Given the description of an element on the screen output the (x, y) to click on. 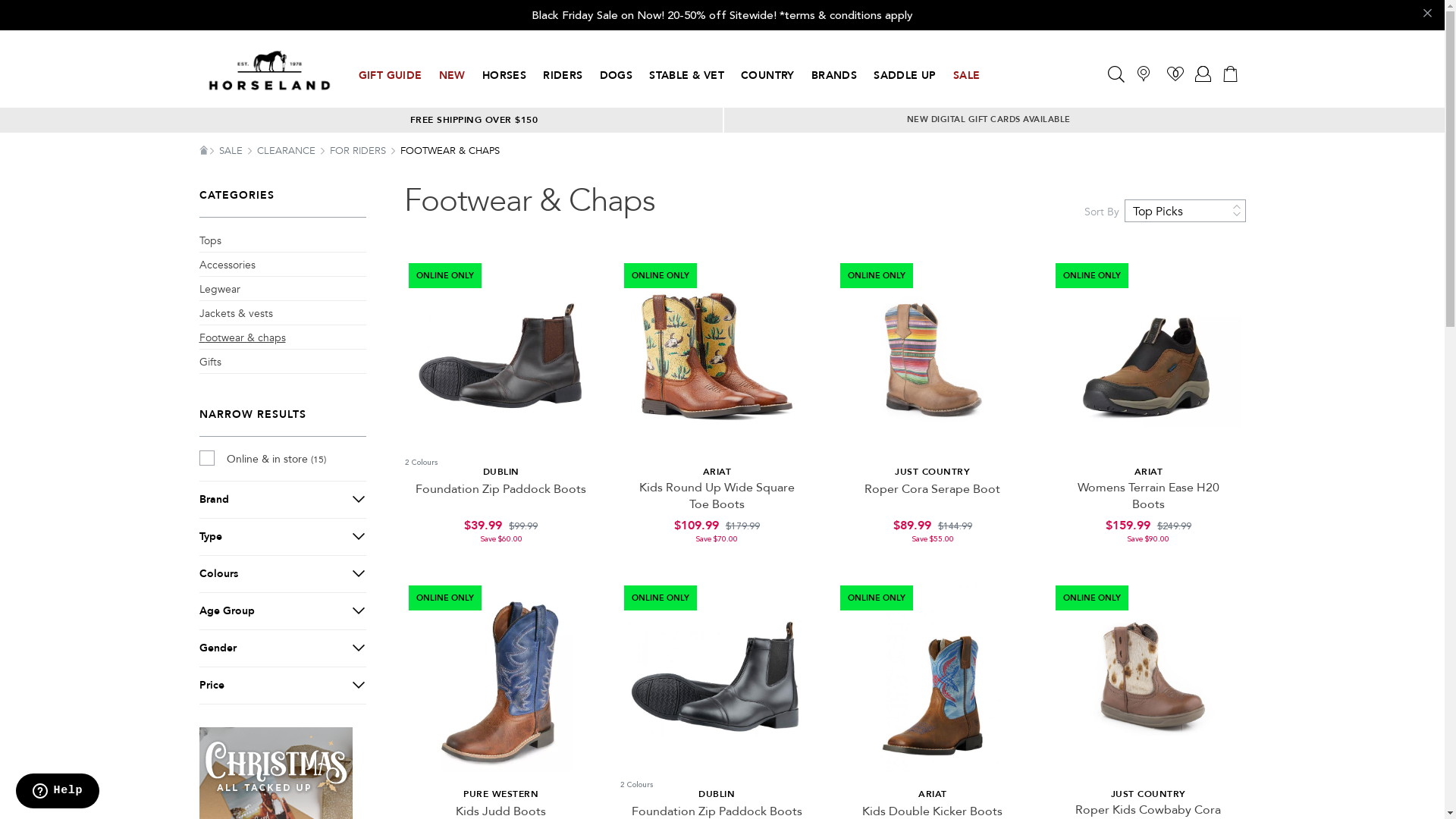
My Wish List
0 Element type: text (1175, 73)
CLEARANCE Element type: text (286, 150)
Legwear Element type: text (218, 289)
ONLINE ONLY Element type: text (501, 359)
SADDLE UP Element type: text (904, 75)
Roper Cora Serape Boot Element type: text (932, 488)
Accessories Element type: text (226, 265)
ONLINE ONLY Element type: text (932, 359)
Horseland logo Element type: hover (268, 70)
FOR RIDERS Element type: text (358, 150)
DOGS Element type: text (616, 75)
$159.99 $249.99
Save $90.00 Element type: text (1148, 529)
STABLE & VET Element type: text (686, 75)
Store Locator Element type: text (1143, 72)
Online & in store 15 Element type: text (281, 459)
ONLINE ONLY Element type: text (716, 359)
BRANDS Element type: text (833, 75)
Kids Round Up Wide Square Toe Boots Element type: text (716, 495)
SALE Element type: text (231, 150)
Footwear & chaps Element type: text (241, 338)
NEW DIGITAL GIFT CARDS AVAILABLE  Element type: text (989, 119)
NEW Element type: text (451, 75)
HORSES Element type: text (504, 75)
$89.99 $144.99
Save $55.00 Element type: text (932, 529)
COUNTRY Element type: text (767, 75)
Jackets & vests Element type: text (235, 313)
RIDERS Element type: text (562, 75)
ONLINE ONLY Element type: text (716, 681)
Tops Element type: text (209, 241)
$39.99 $99.99
Save $60.00 Element type: text (501, 529)
GIFT GUIDE Element type: text (389, 75)
Opens a widget where you can find more information Element type: hover (57, 792)
$20 - $40 Element type: text (281, 710)
Gifts Element type: text (209, 362)
ONLINE ONLY Element type: text (501, 681)
$109.99 $179.99
Save $70.00 Element type: text (716, 529)
SALE Element type: text (966, 75)
ONLINE ONLY Element type: text (1148, 681)
x Element type: text (1425, 15)
ONLINE ONLY Element type: text (932, 681)
Foundation Zip Paddock Boots Element type: text (500, 488)
Womens Terrain Ease H20 Boots Element type: text (1148, 495)
ONLINE ONLY Element type: text (1148, 359)
